Given the description of an element on the screen output the (x, y) to click on. 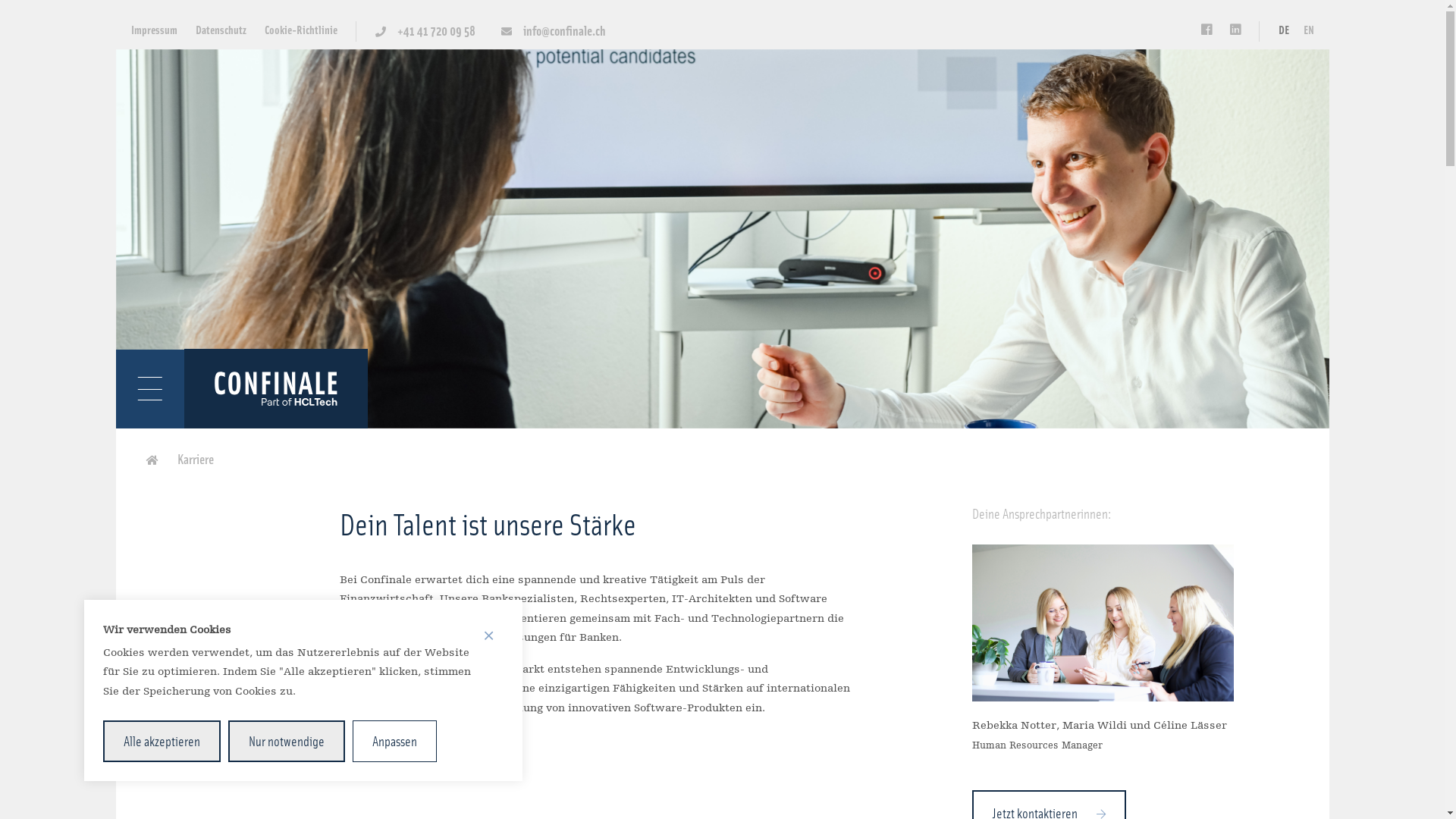
Karriere Element type: text (191, 457)
DE Element type: text (1283, 29)
Anpassen Element type: text (394, 741)
+41 41 720 09 58 Element type: text (424, 29)
Impressum Element type: text (153, 29)
Datenschutz Element type: text (220, 29)
EN Element type: text (1307, 29)
Cookie-Richtlinie Element type: text (299, 29)
Nur notwendige Element type: text (286, 741)
Cookie-Manager schliessen Element type: hover (488, 634)
Alle akzeptieren Element type: text (161, 741)
info@confinale.ch Element type: text (552, 29)
